Given the description of an element on the screen output the (x, y) to click on. 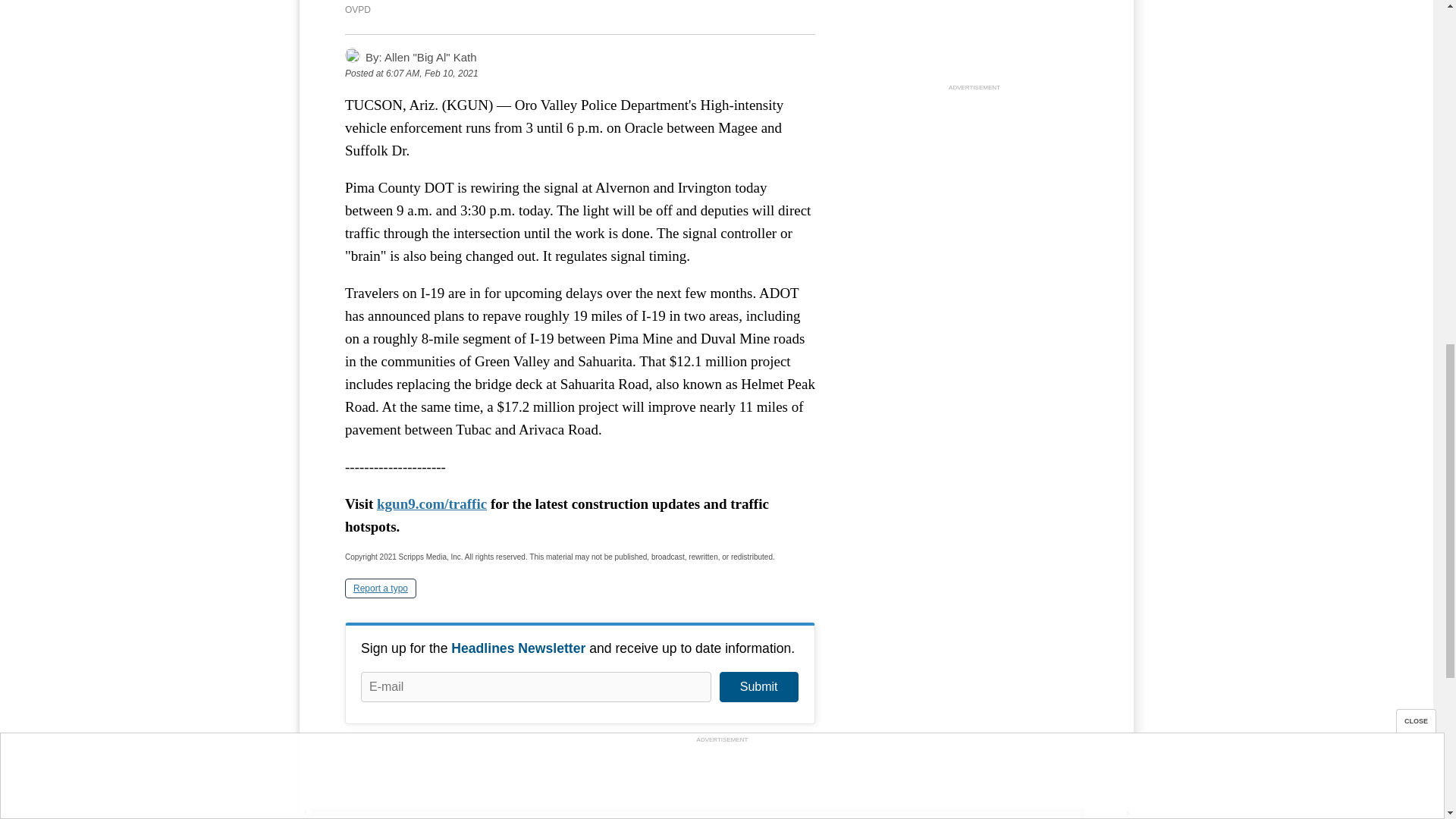
3rd party ad content (973, 189)
Submit (758, 686)
